Given the description of an element on the screen output the (x, y) to click on. 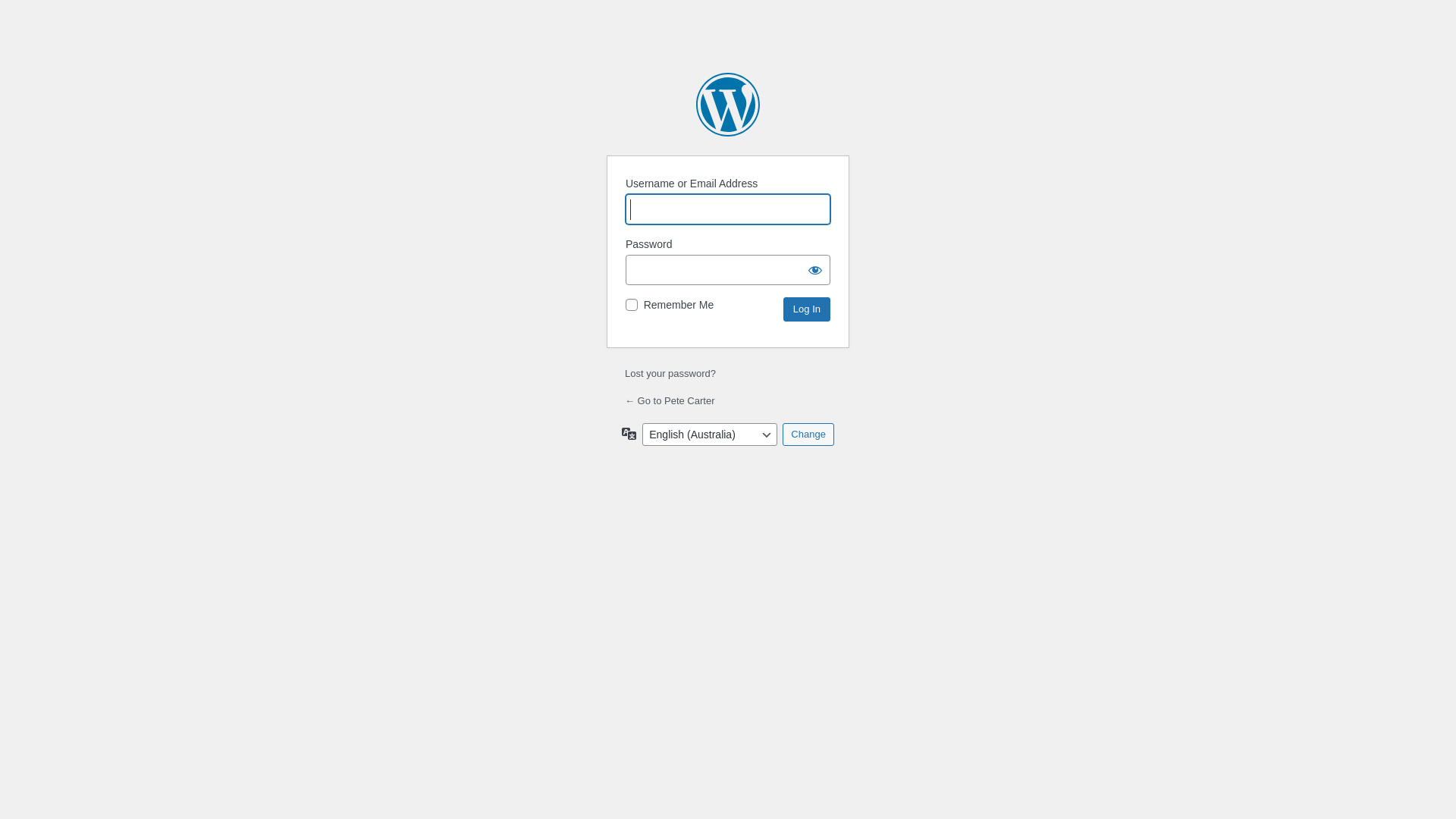
Change Element type: text (808, 434)
Log In Element type: text (806, 309)
Powered by WordPress Element type: text (727, 104)
Lost your password? Element type: text (669, 373)
